Given the description of an element on the screen output the (x, y) to click on. 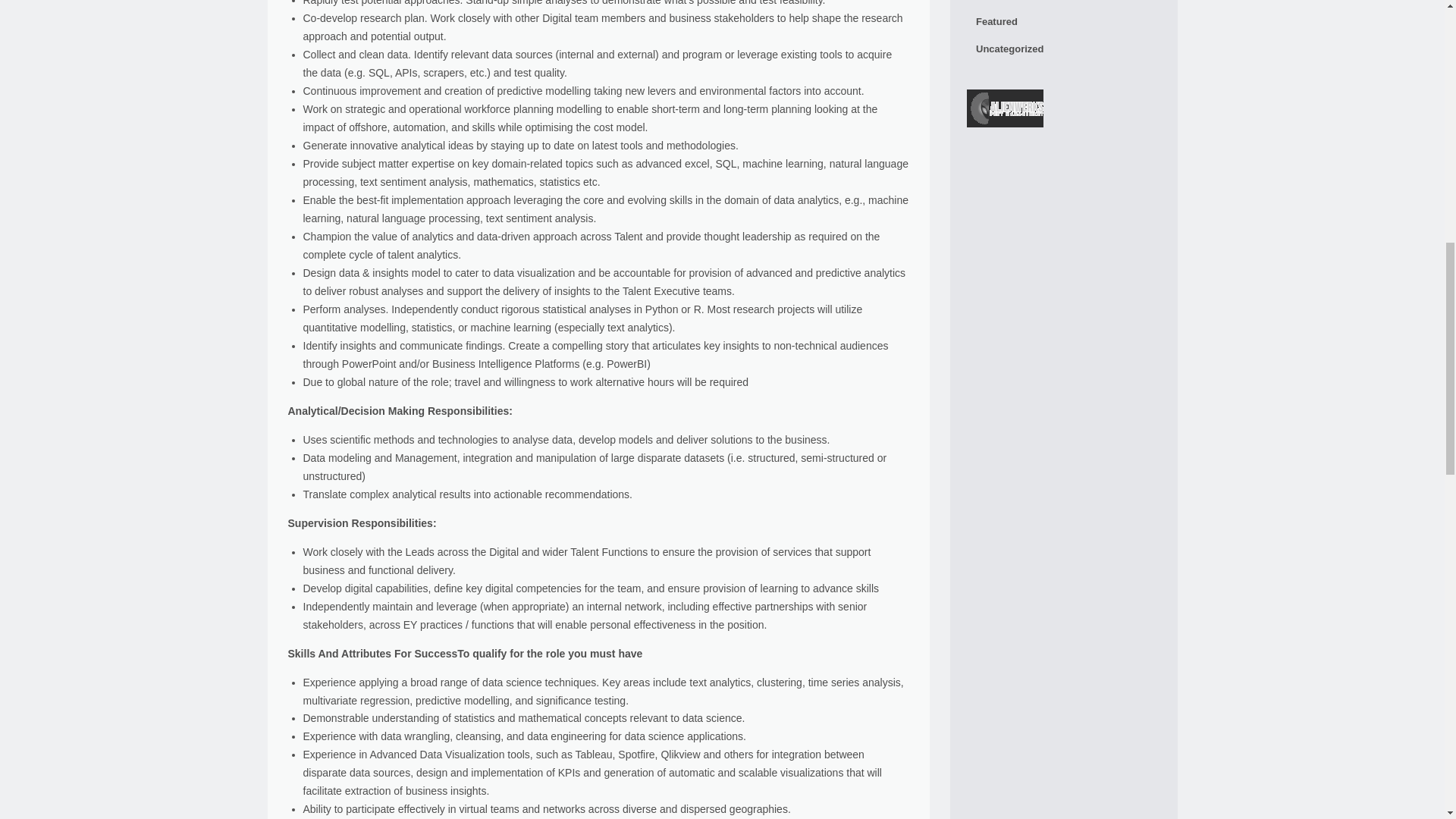
Uncategorized (1063, 49)
Featured (1063, 22)
AlienWerks Pest Management (1004, 111)
AI Skills (1063, 4)
